Given the description of an element on the screen output the (x, y) to click on. 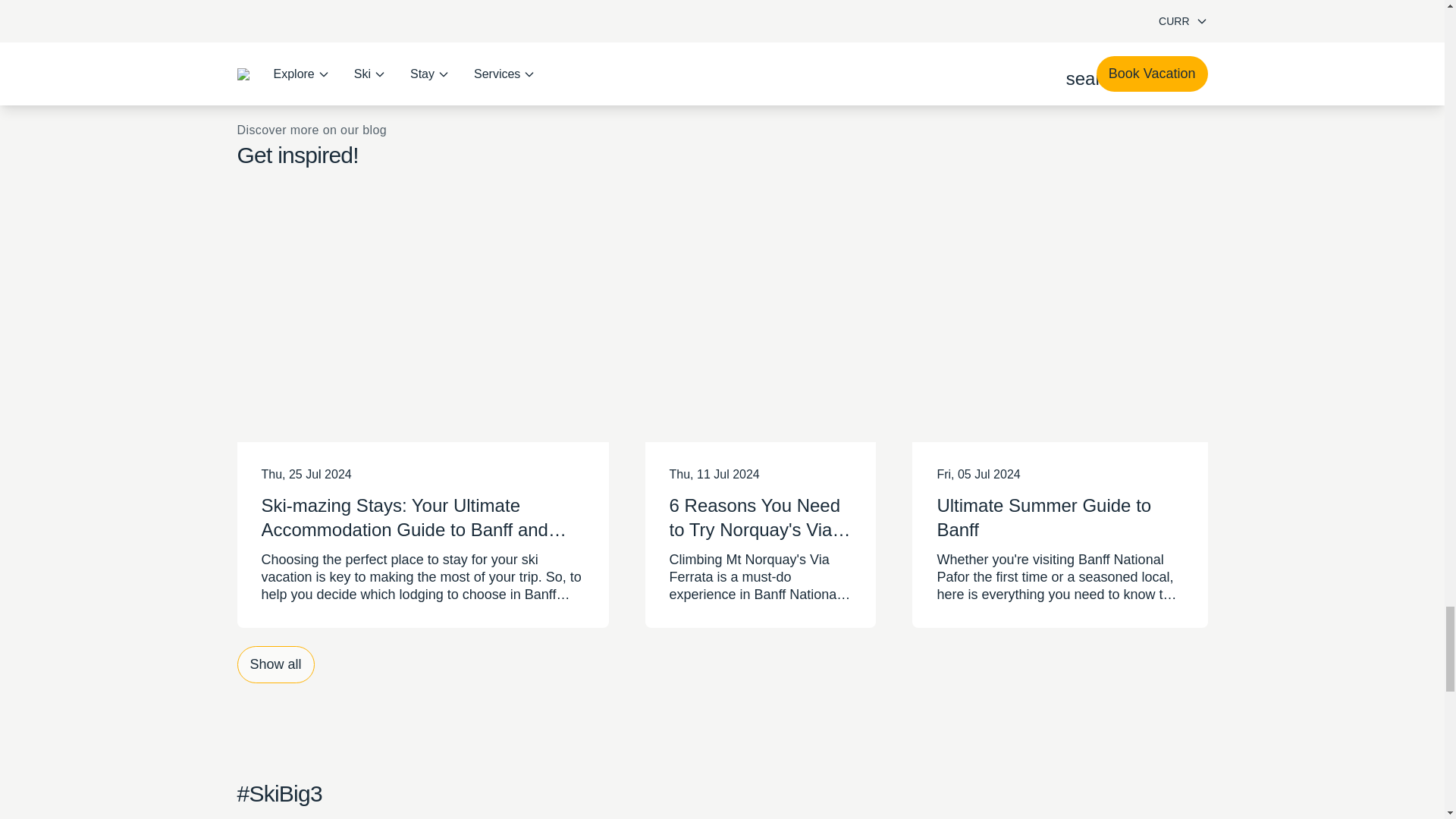
Vacation Packages (722, 10)
Vacation Packages (722, 10)
Show all (274, 684)
